Given the description of an element on the screen output the (x, y) to click on. 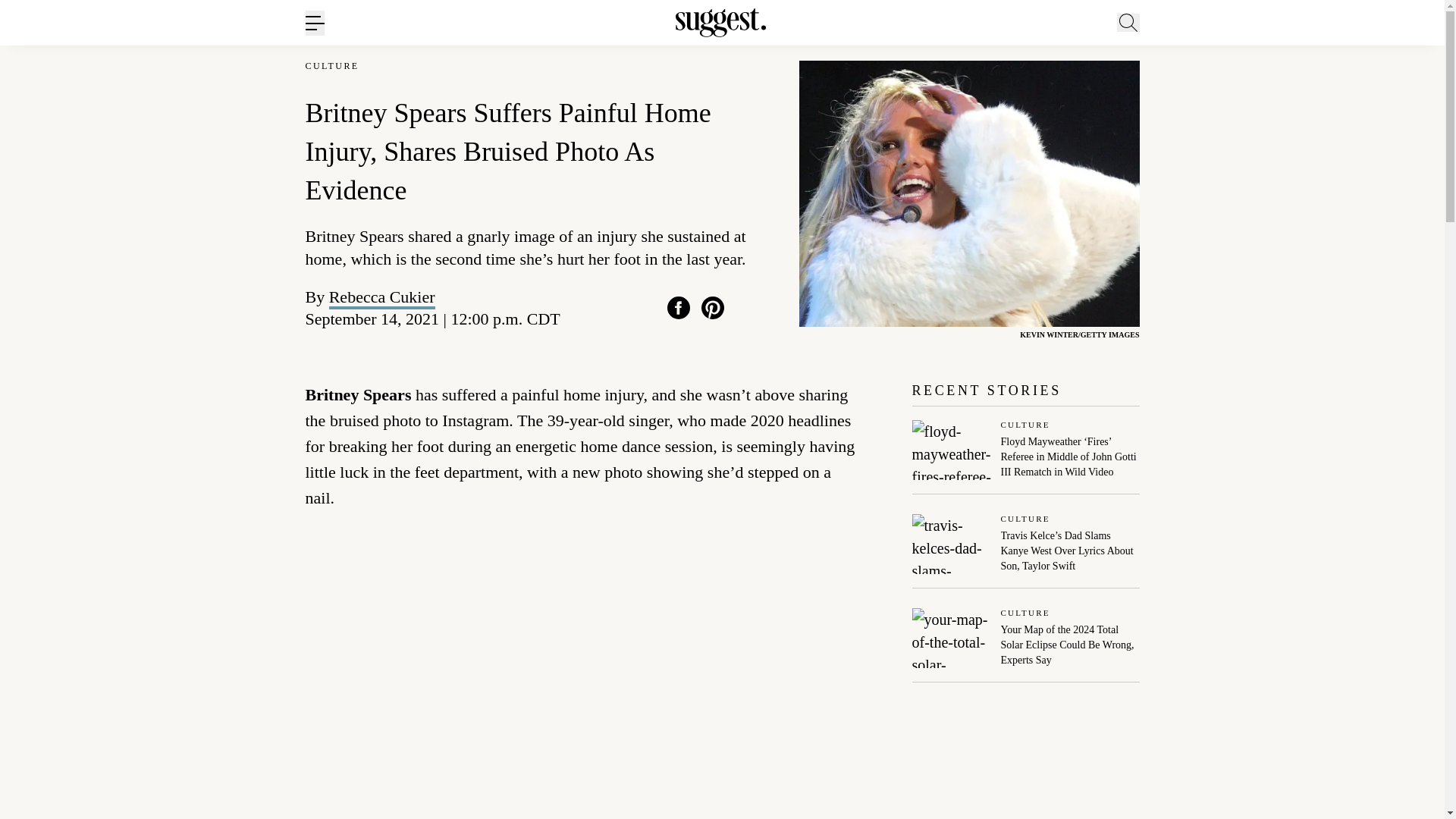
CULTURE (331, 66)
Culture (1070, 425)
Suggest (720, 22)
Facebook (678, 307)
Pinterest (712, 307)
Twitter (746, 307)
Search (1170, 95)
Rebecca Cukier (382, 296)
Culture (1070, 519)
